Given the description of an element on the screen output the (x, y) to click on. 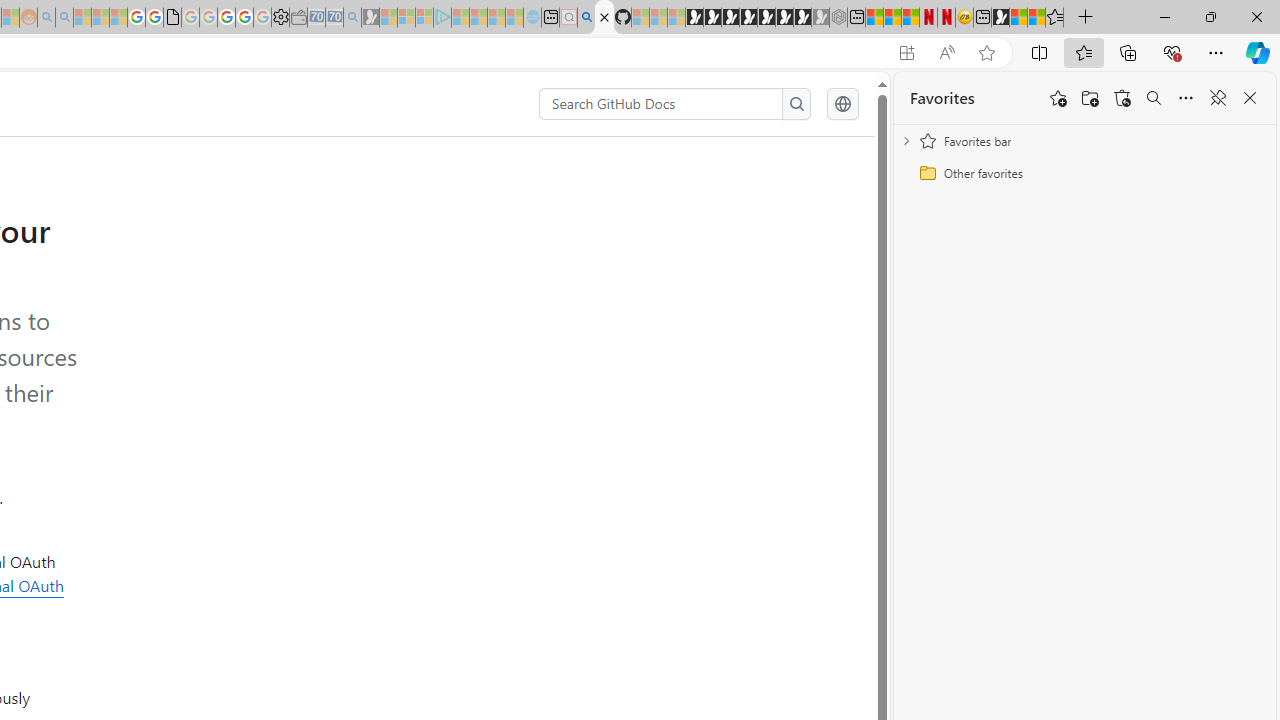
Cheap Car Rentals - Save70.com - Sleeping (334, 17)
Bing Real Estate - Home sales and rental listings - Sleeping (352, 17)
github - Search (586, 17)
MSN (1000, 17)
Search GitHub Docs (661, 103)
Home | Sky Blue Bikes - Sky Blue Bikes - Sleeping (532, 17)
